Given the description of an element on the screen output the (x, y) to click on. 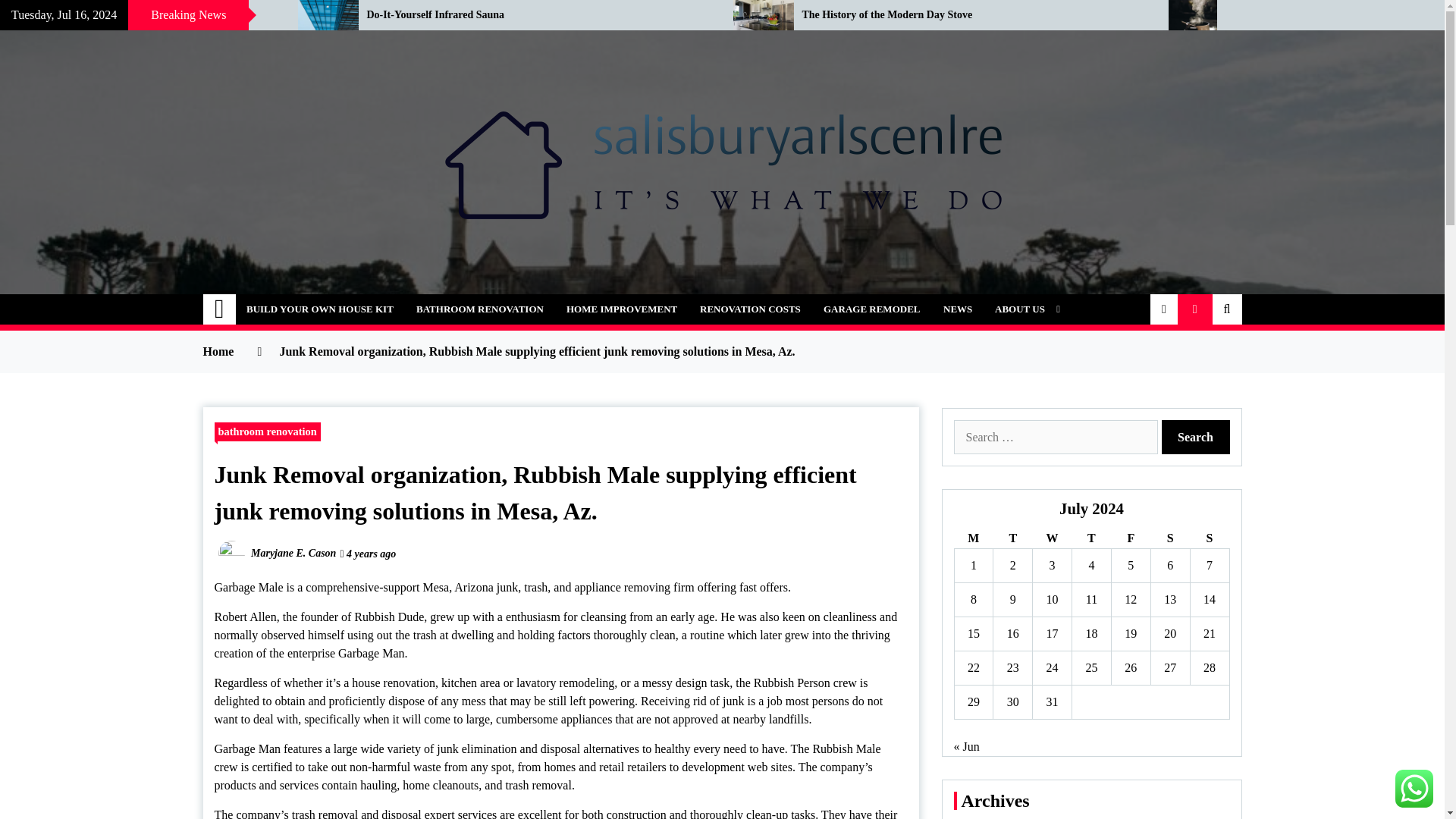
The History of the Modern Day Stove (973, 15)
Monday (972, 538)
Sunday (1208, 538)
Thursday (1091, 538)
Wednesday (1051, 538)
Saturday (1169, 538)
Tuesday (1012, 538)
Search (1195, 437)
Home (219, 309)
Friday (1130, 538)
Do-It-Yourself Infrared Sauna (538, 15)
Search (1195, 437)
